Given the description of an element on the screen output the (x, y) to click on. 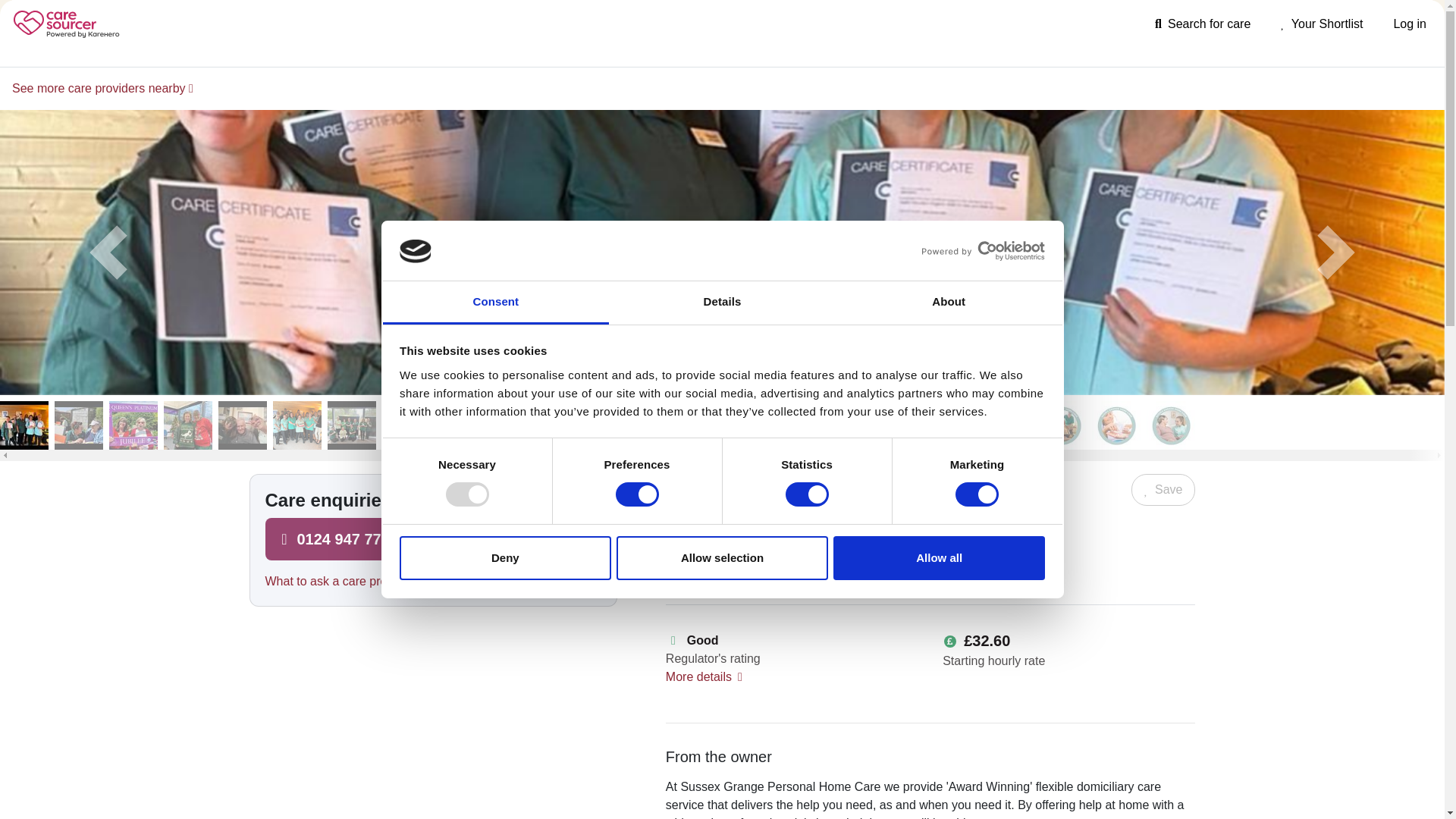
Consent (494, 302)
Details (721, 302)
About (948, 302)
